Given the description of an element on the screen output the (x, y) to click on. 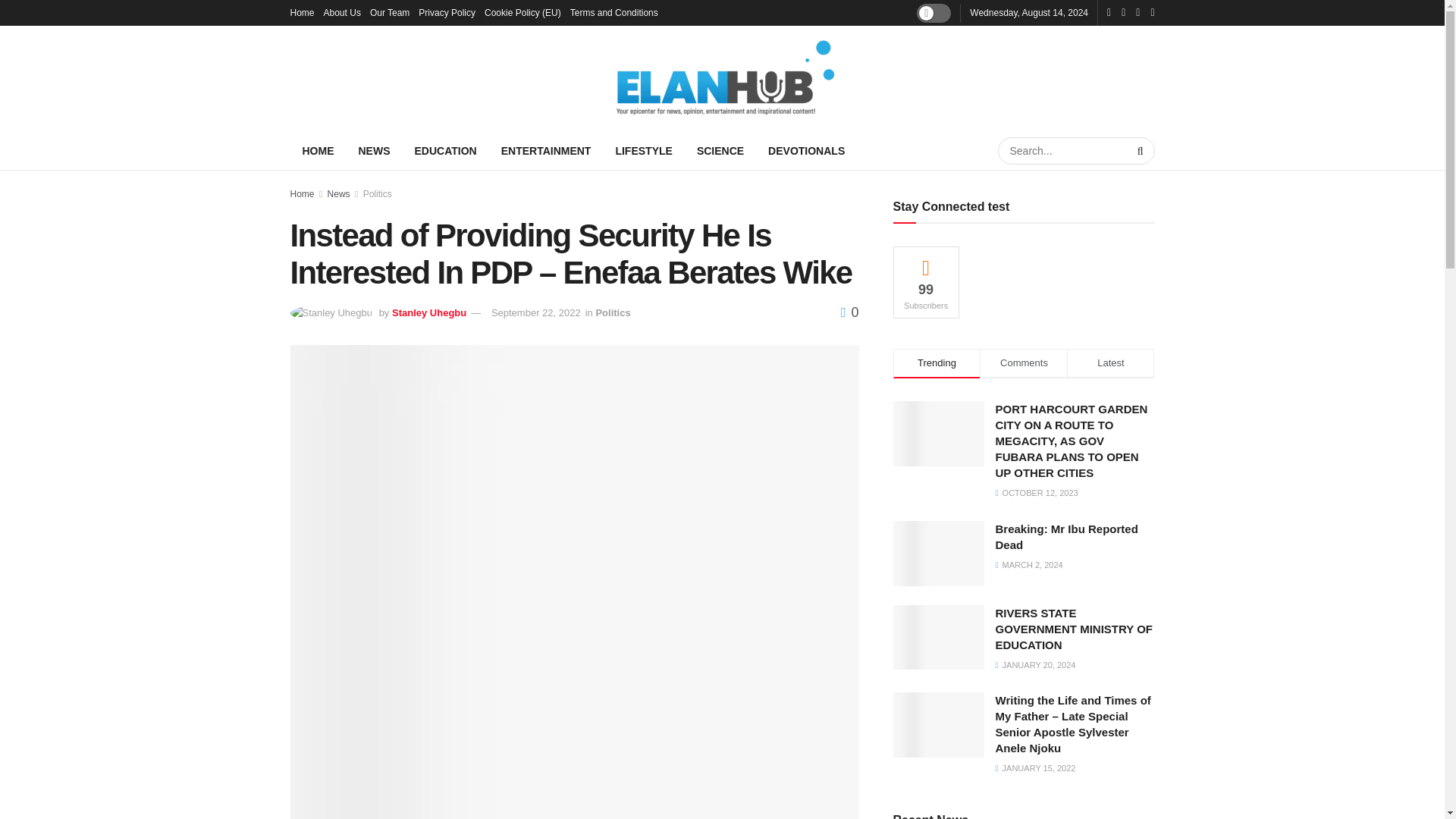
EDUCATION (444, 150)
Privacy Policy (447, 12)
NEWS (373, 150)
Home (301, 12)
Our Team (389, 12)
SCIENCE (719, 150)
DEVOTIONALS (806, 150)
ENTERTAINMENT (546, 150)
About Us (342, 12)
Terms and Conditions (614, 12)
